Given the description of an element on the screen output the (x, y) to click on. 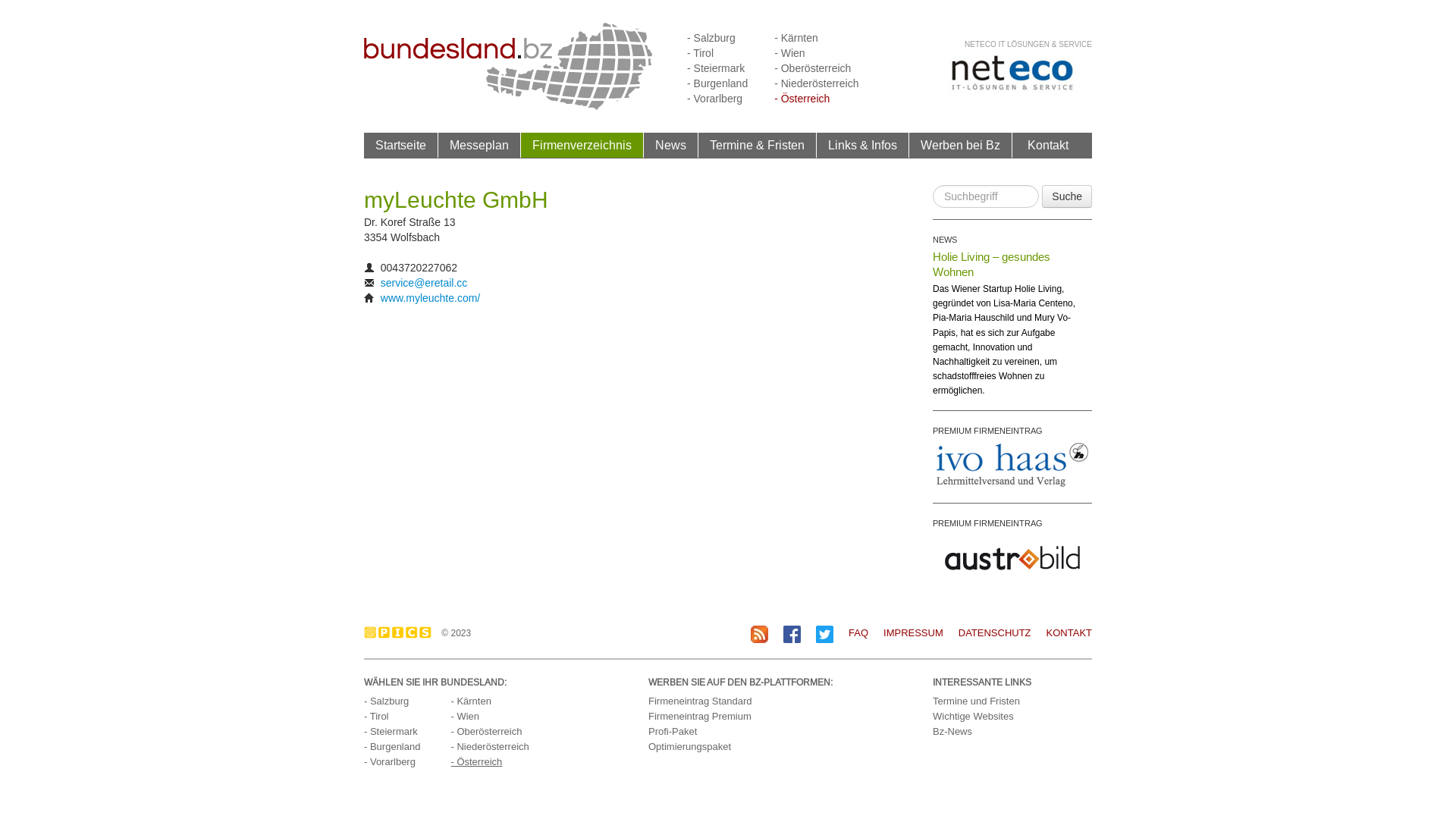
- Tirol Element type: text (376, 715)
DATENSCHUTZ Element type: text (994, 631)
Zum Premium-Firmeneintrag von AustroBild.at Element type: hover (1012, 556)
- Salzburg Element type: text (711, 37)
Werben bei Bz Element type: text (960, 144)
BZ auf Twitter Element type: hover (824, 632)
Kontakt Element type: text (1047, 144)
- Salzburg Element type: text (386, 700)
- Steiermark Element type: text (715, 68)
Links & Infos Element type: text (862, 144)
Wichtige Websites Element type: text (972, 715)
- Burgenland Element type: text (392, 745)
IMPRESSUM Element type: text (913, 631)
- Vorarlberg Element type: text (714, 98)
BZ auf Twitter Element type: hover (824, 633)
Termine & Fristen Element type: text (757, 144)
service@eretail.cc Element type: text (423, 282)
DATENSCHUTZ Element type: text (987, 632)
NEWS Element type: text (944, 239)
Firmeneintrag Premium Element type: text (699, 715)
- Wien Element type: text (464, 715)
Startseite Element type: text (401, 144)
Firmenverzeichnis Element type: text (581, 144)
FAQ Element type: text (858, 631)
Messeplan Element type: text (478, 144)
News Element type: text (670, 144)
BZ auf Facebook Element type: hover (791, 632)
Firmeneintrag Standard Element type: text (700, 700)
Kontakt Element type: text (1047, 144)
Suche Element type: text (1066, 196)
PREMIUM FIRMENEINTRAG Element type: text (987, 429)
- Wien Element type: text (789, 53)
Werben bei Bz Element type: text (960, 144)
Optimierungspaket Element type: text (689, 745)
Zur Startseite von Bundesland.bz Element type: hover (508, 65)
BZ auf Facebook Element type: hover (791, 633)
BZ RSS-Feed Element type: hover (759, 633)
KONTAKT Element type: text (1061, 632)
www.myleuchte.com/ Element type: text (430, 297)
Termine & Fristen Element type: text (756, 144)
- Tirol Element type: text (700, 53)
KONTAKT Element type: text (1069, 631)
Links & Infos Element type: text (862, 144)
- Steiermark Element type: text (390, 730)
Startseite Element type: text (400, 144)
IMPRESSUM Element type: text (905, 632)
Messeplan Element type: text (479, 144)
FAQ Element type: text (850, 632)
Firmenverzeichnis Element type: text (581, 144)
Termine und Fristen Element type: text (975, 700)
PREMIUM FIRMENEINTRAG Element type: text (987, 522)
RSS-Feed Abonnieren Element type: hover (759, 632)
- Vorarlberg Element type: text (389, 760)
- Burgenland Element type: text (717, 83)
Bz-News Element type: text (952, 730)
News Element type: text (670, 144)
Profi-Paket Element type: text (672, 730)
